Given the description of an element on the screen output the (x, y) to click on. 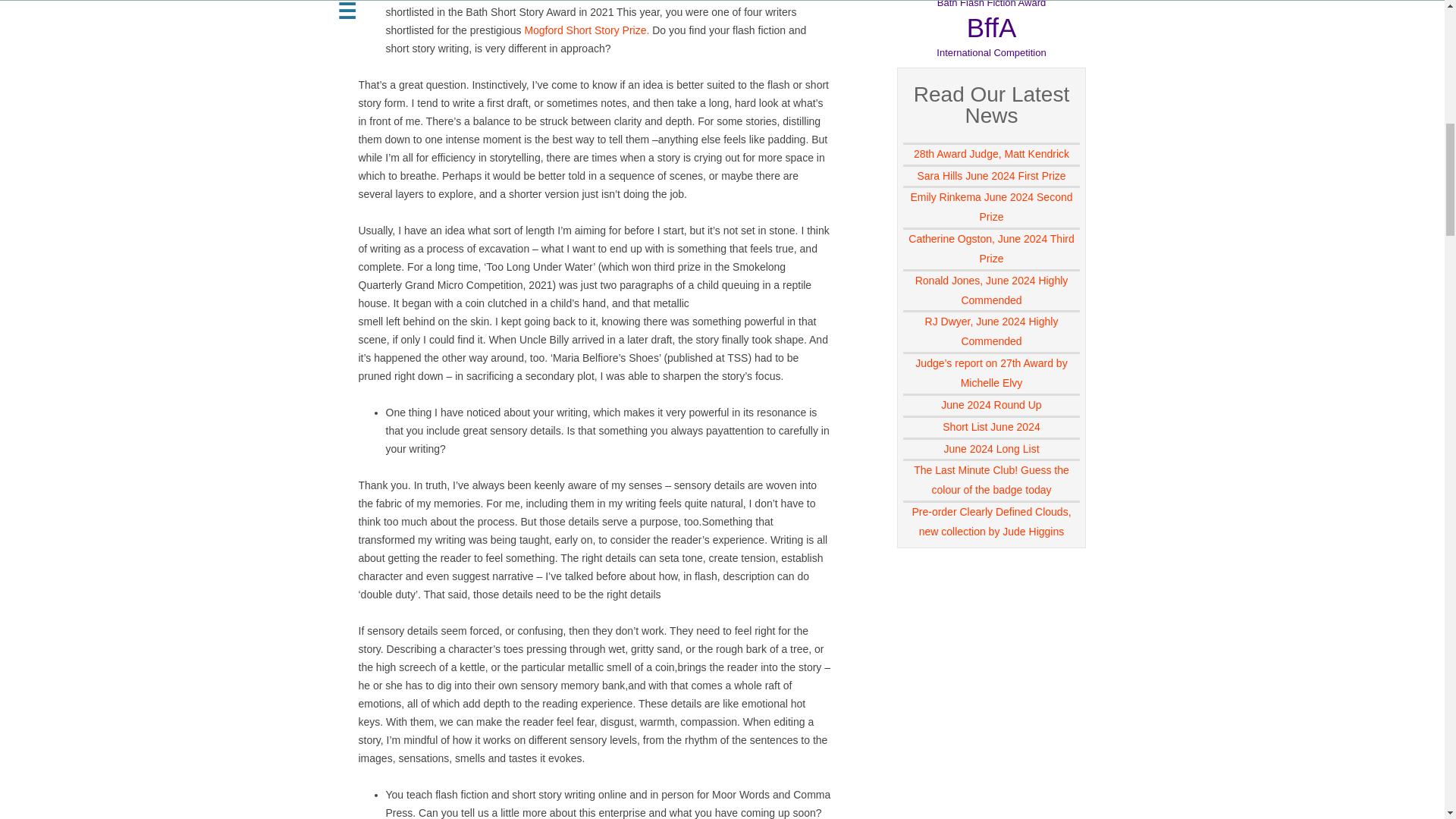
Mogford Short Story Prize. (586, 30)
